Given the description of an element on the screen output the (x, y) to click on. 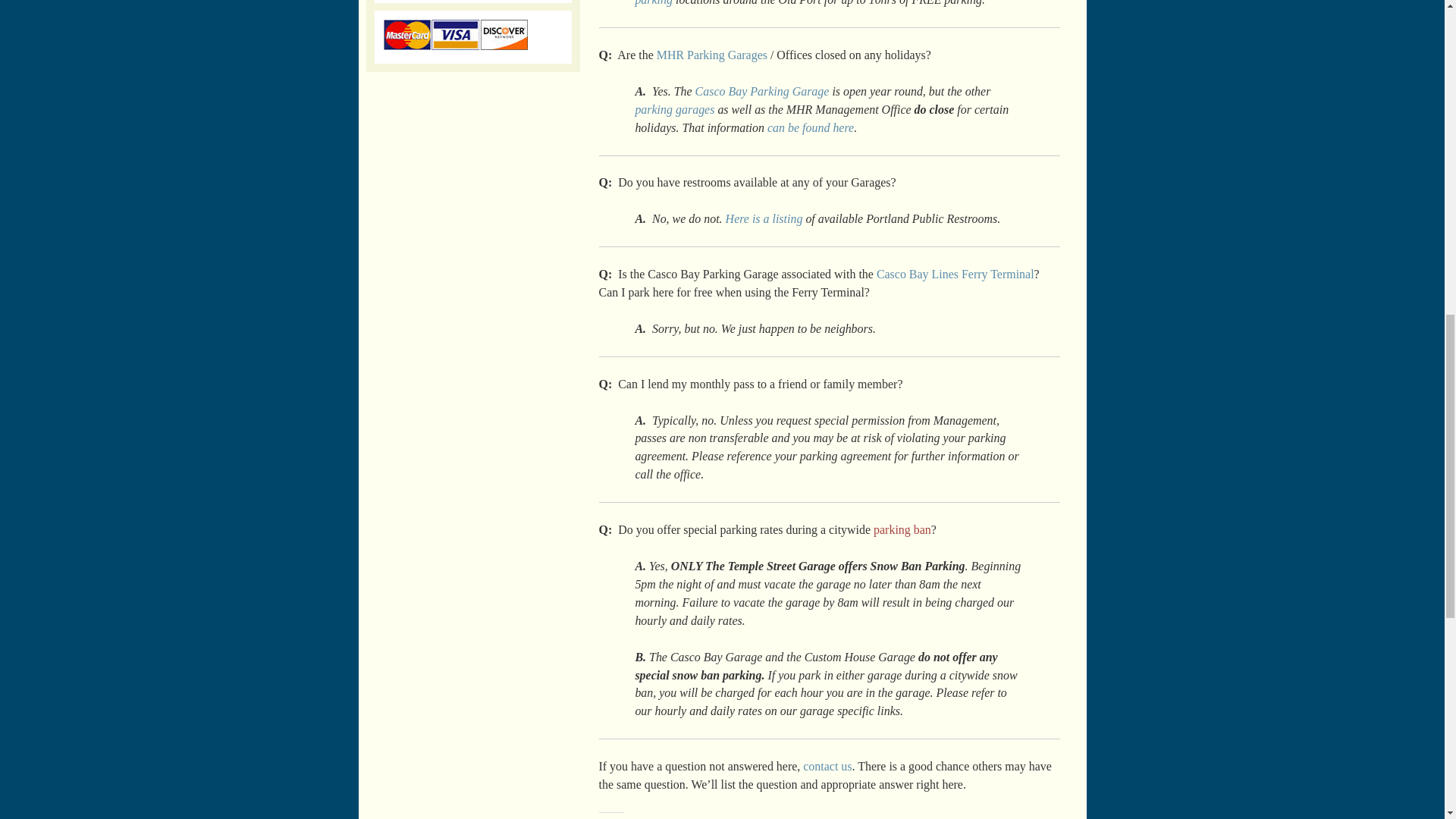
Portland Maine Parking Garages (674, 109)
Casco Bay Parking Garage - Portland Maine (762, 91)
Portland Maine Parking Garages (711, 54)
Garage Holiday Closings (810, 127)
